Given the description of an element on the screen output the (x, y) to click on. 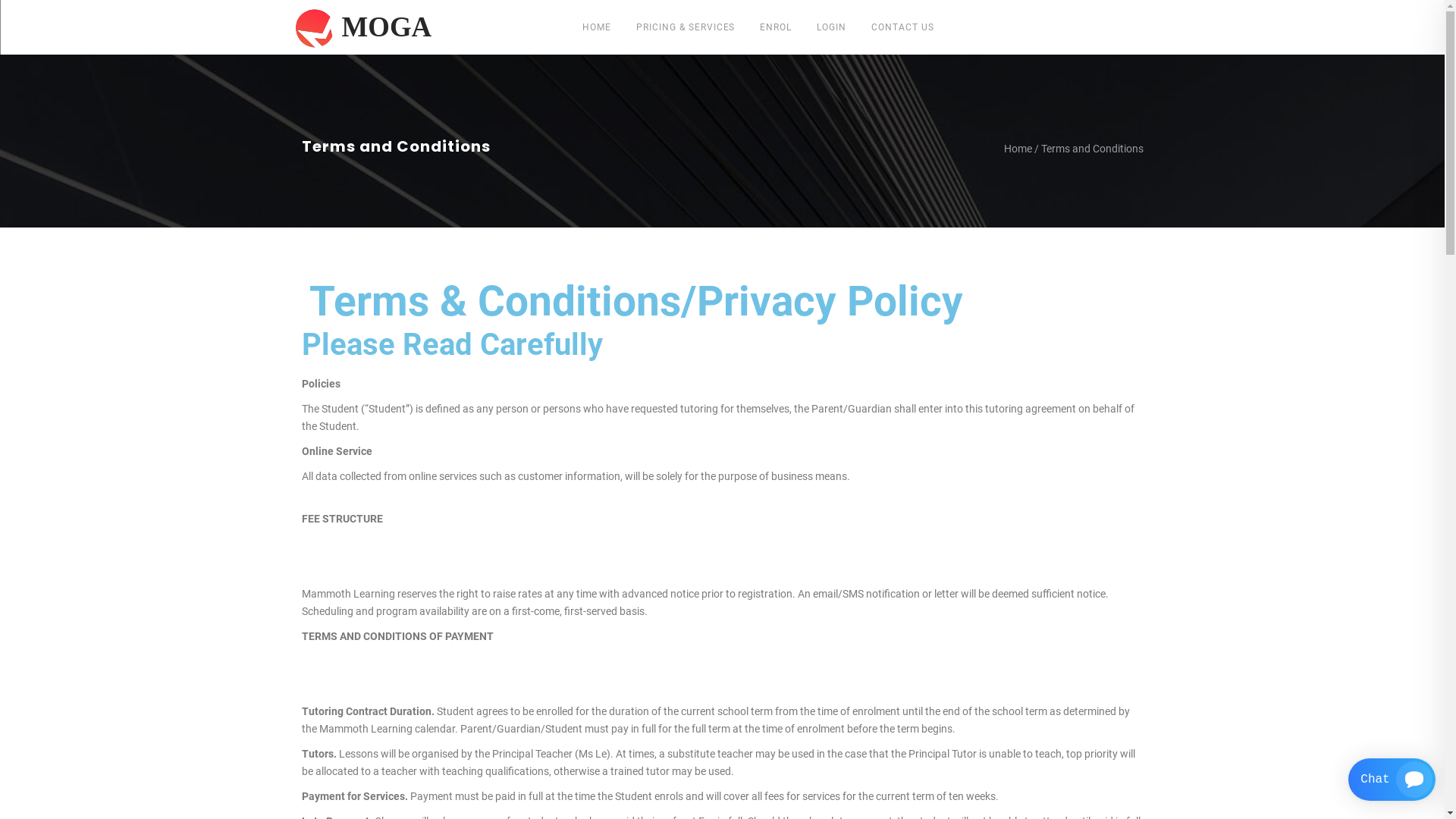
LOGIN Element type: text (831, 26)
Smartsupp widget button Element type: hover (1391, 779)
CONTACT US Element type: text (902, 26)
PRICING & SERVICES Element type: text (685, 26)
HOME Element type: text (596, 26)
Search Element type: text (961, 351)
Home Element type: text (1018, 148)
ENROL Element type: text (775, 26)
